Given the description of an element on the screen output the (x, y) to click on. 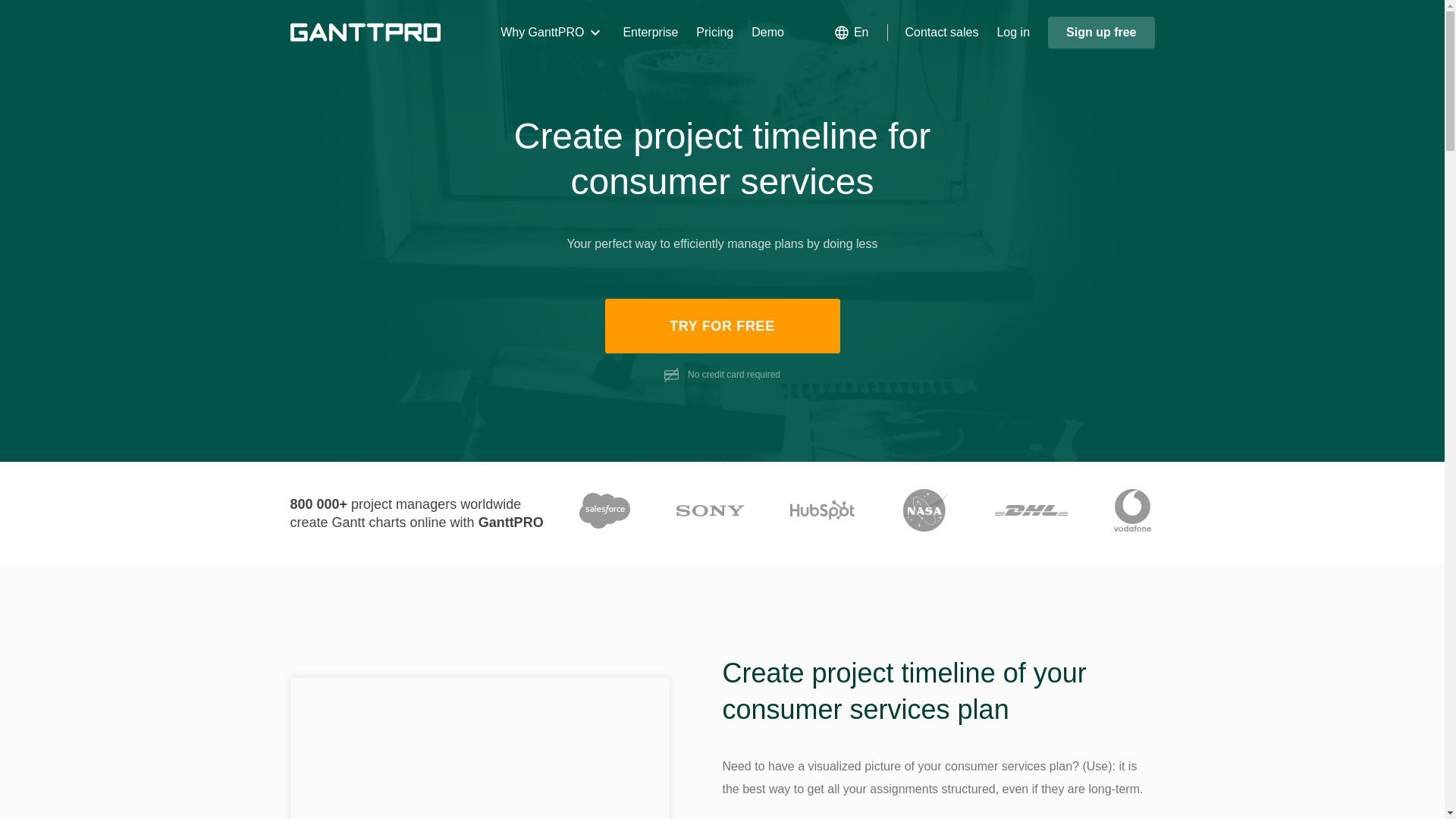
Pricing (714, 32)
Enterprise (650, 32)
Why GanttPRO (552, 32)
Demo (767, 32)
